Given the description of an element on the screen output the (x, y) to click on. 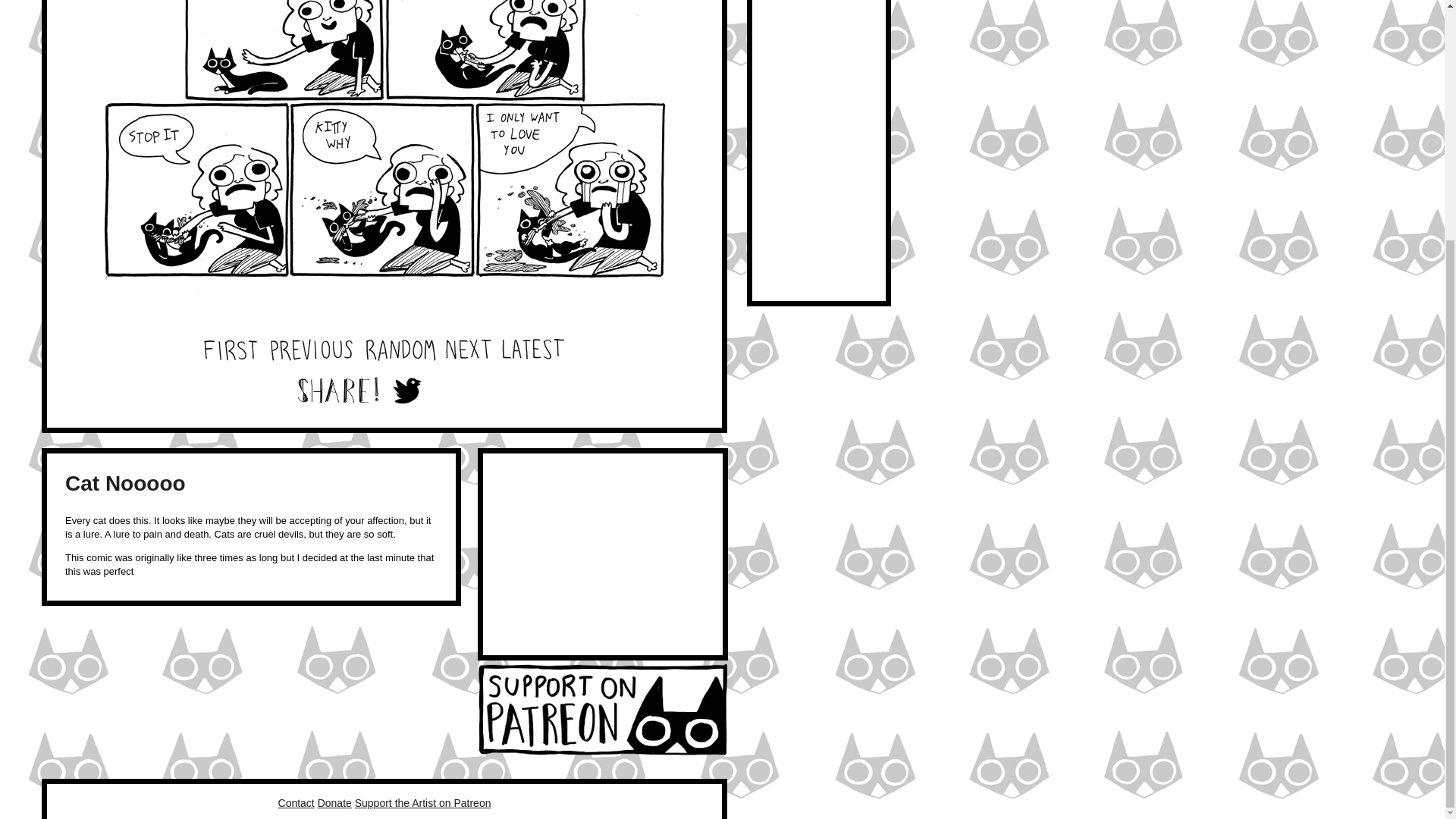
Support the Artist on Patreon (423, 802)
Cat Nooooo (125, 483)
Donate (334, 802)
PayPal - The safer, easier way to pay online! (334, 802)
Contact (296, 802)
